Given the description of an element on the screen output the (x, y) to click on. 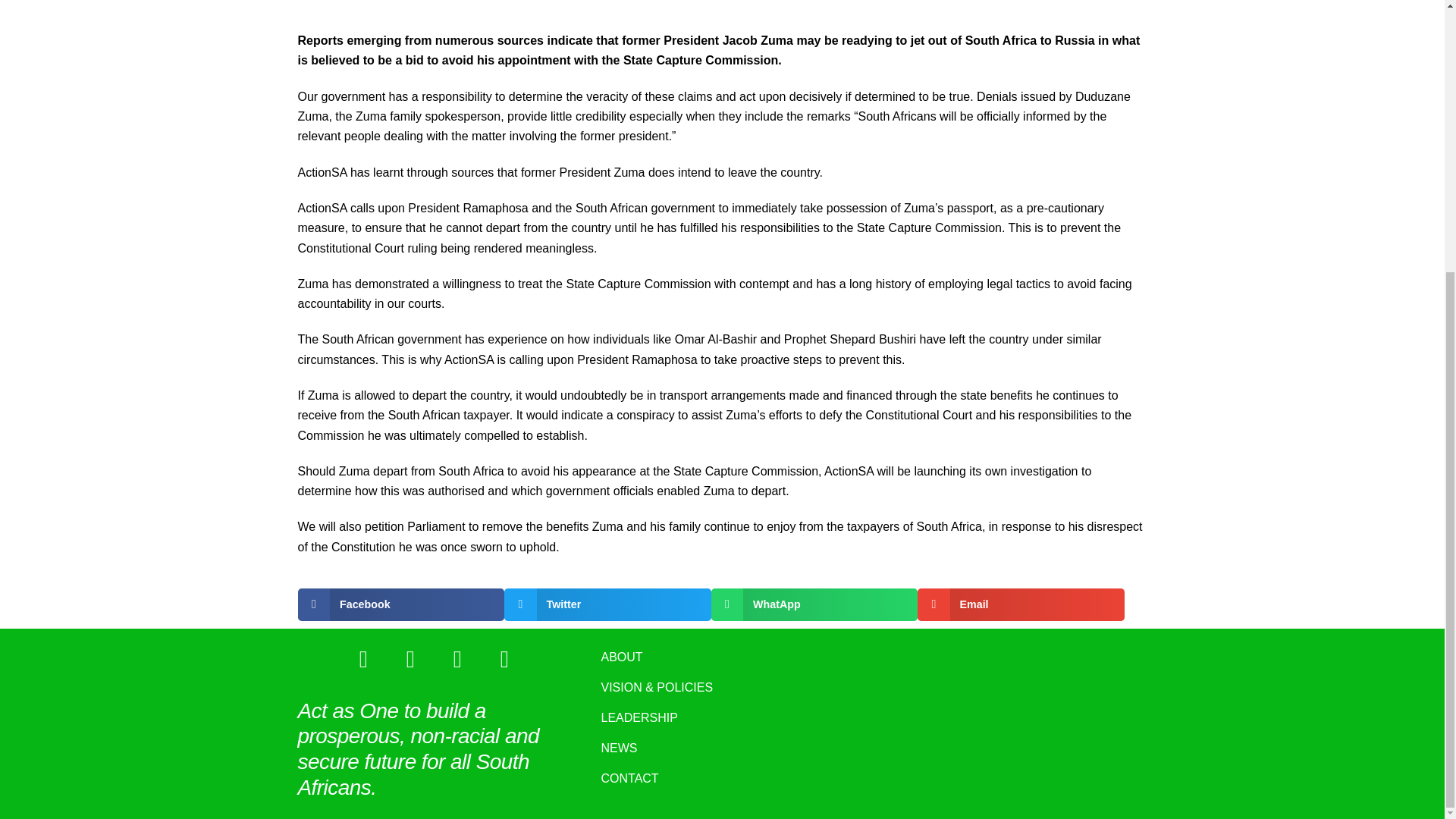
LEADERSHIP (722, 717)
CONTACT (722, 778)
NEWS (722, 748)
ABOUT (722, 657)
